Given the description of an element on the screen output the (x, y) to click on. 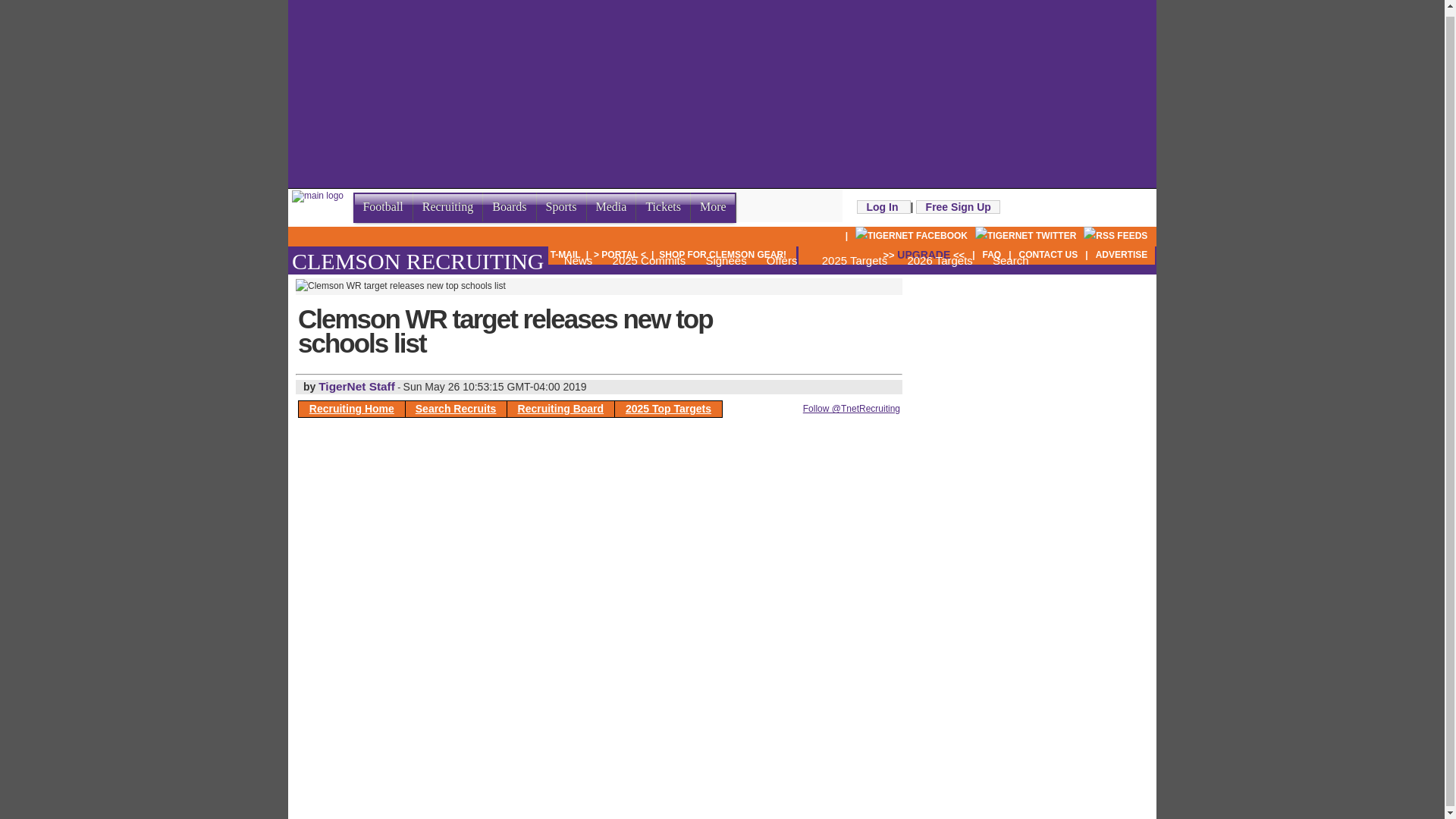
TigerNet Facebook (912, 235)
Contact us (1048, 254)
T-Mail (565, 254)
RSS feeds (1115, 235)
Portal Tracker (620, 254)
Frequently Asked Questions (991, 254)
Donor's Den (410, 254)
TigerBoards (330, 254)
Search TigerNet Members (496, 254)
Clemson Gear on Sale (722, 254)
